Given the description of an element on the screen output the (x, y) to click on. 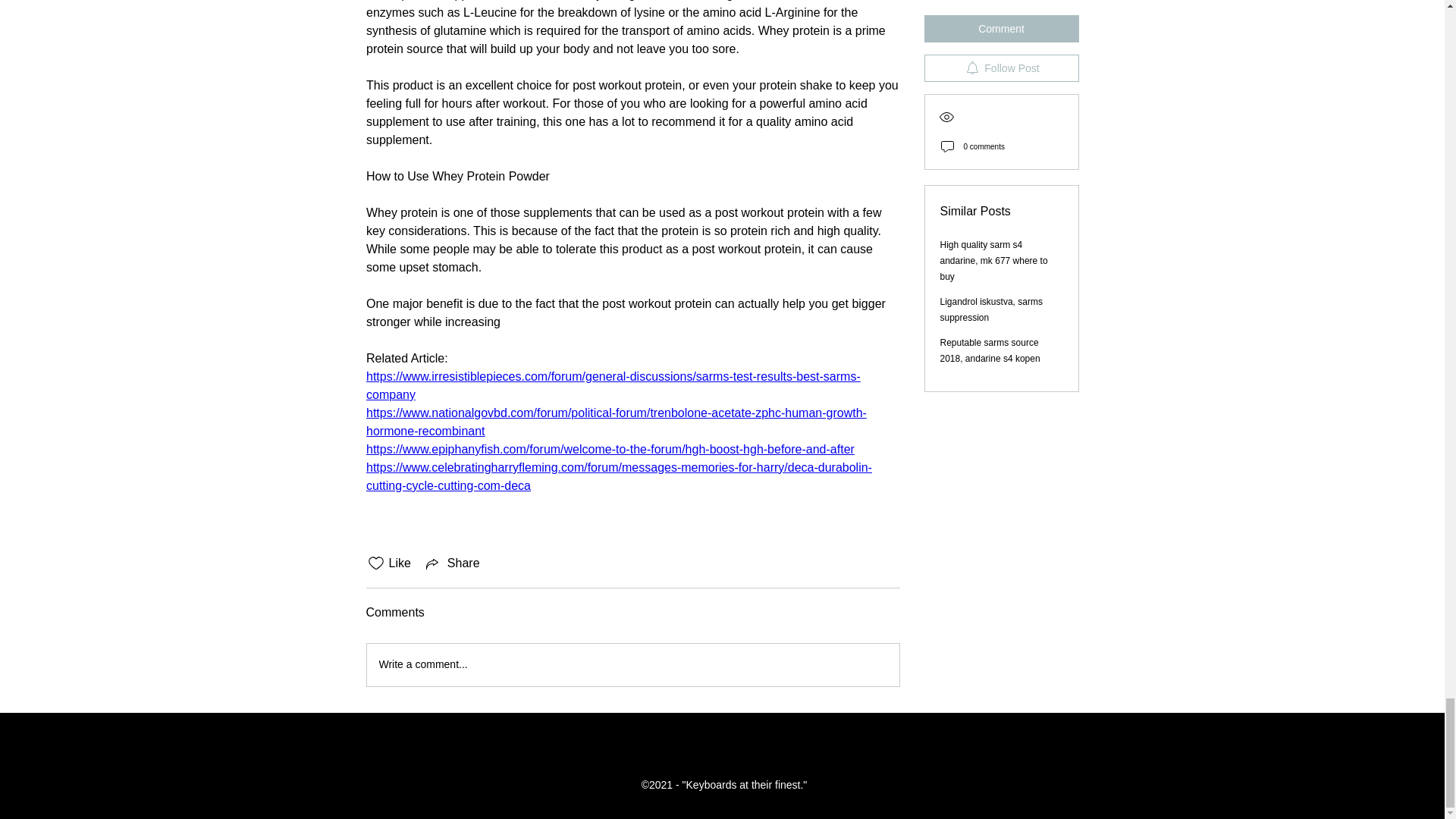
Share (451, 563)
Write a comment... (632, 664)
